Given the description of an element on the screen output the (x, y) to click on. 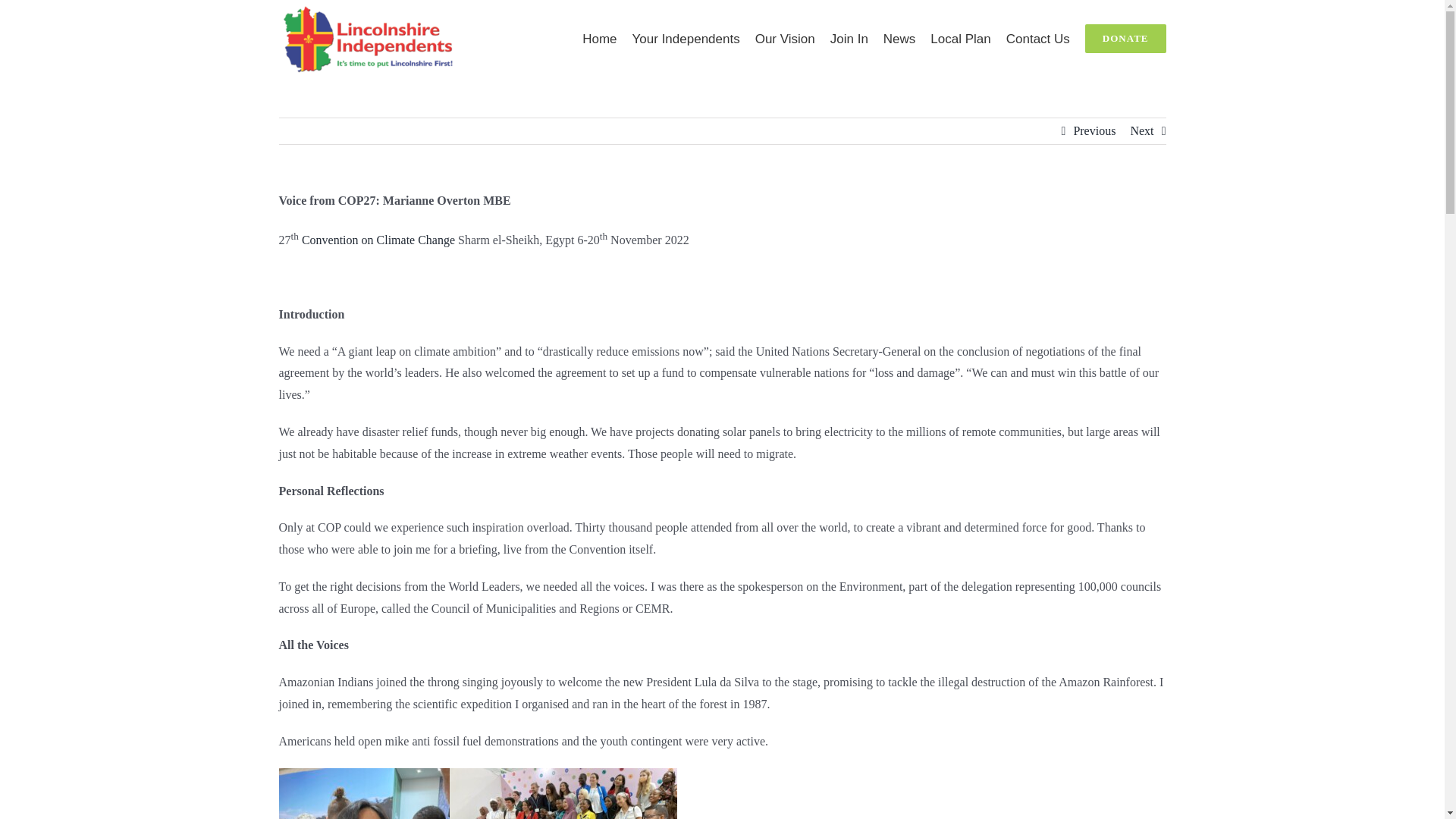
Next (1141, 130)
Your Independents (685, 37)
Previous (1094, 130)
DONATE (1125, 37)
Convention on Climate Change (377, 239)
